Given the description of an element on the screen output the (x, y) to click on. 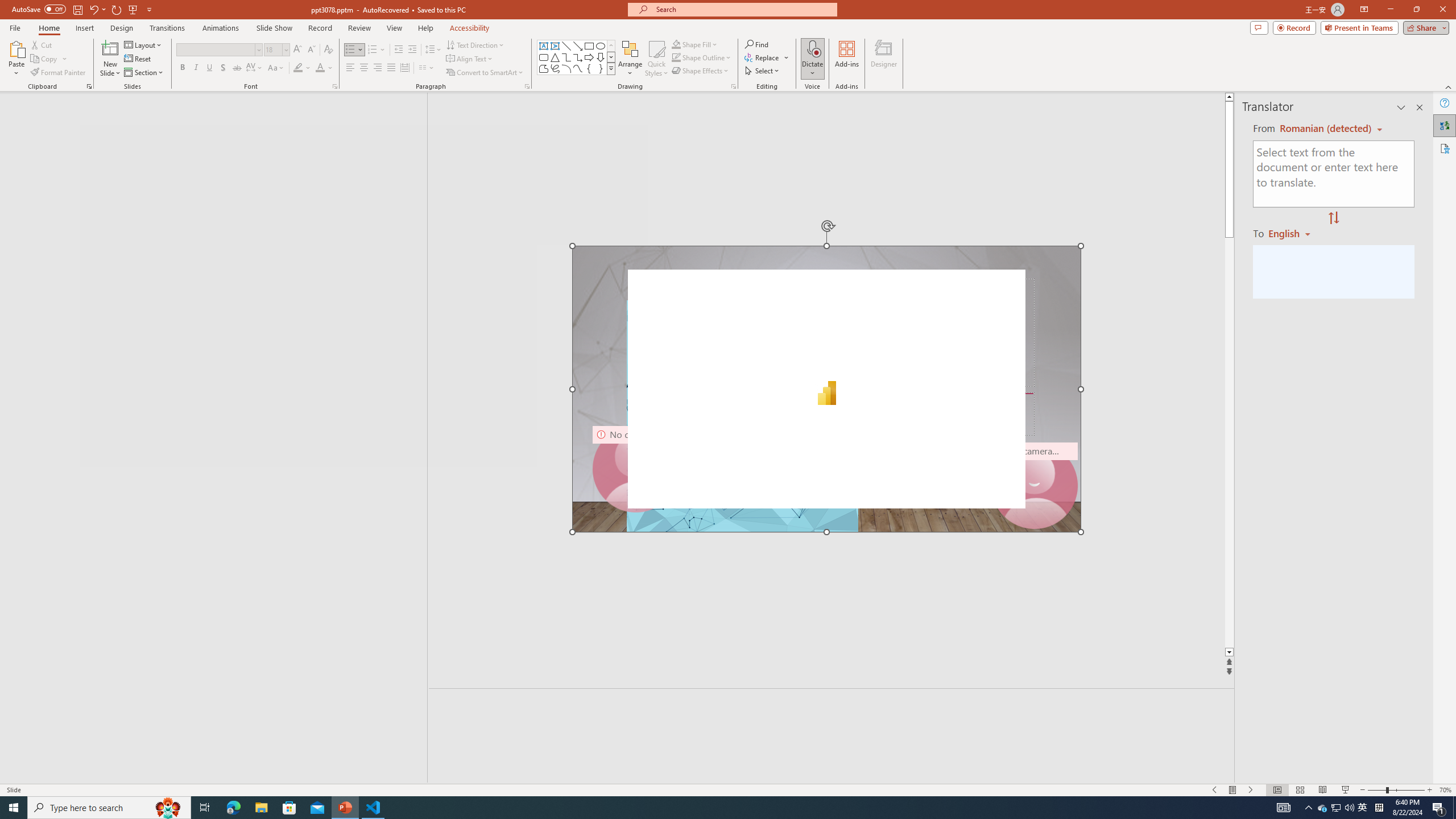
Menu On (1232, 790)
